Given the description of an element on the screen output the (x, y) to click on. 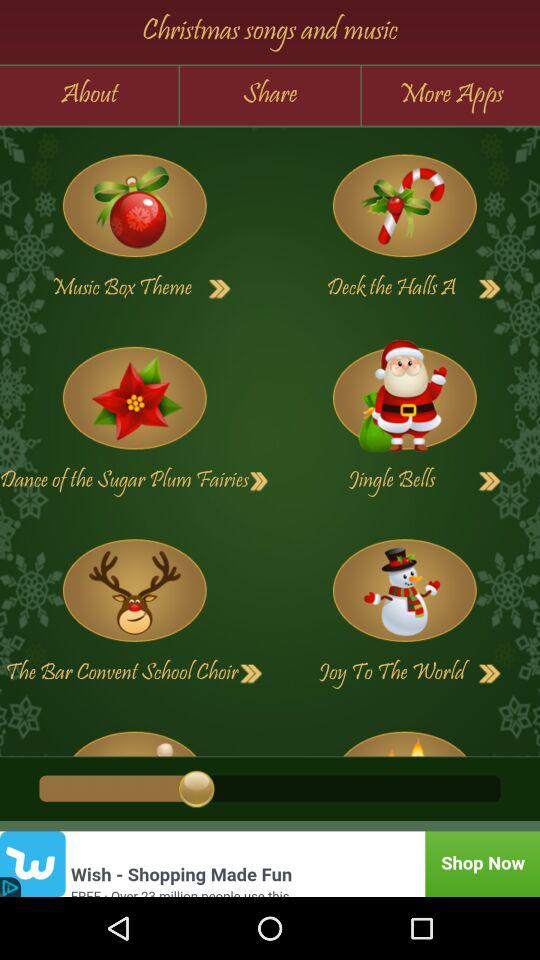
image with a caribou (134, 590)
